Given the description of an element on the screen output the (x, y) to click on. 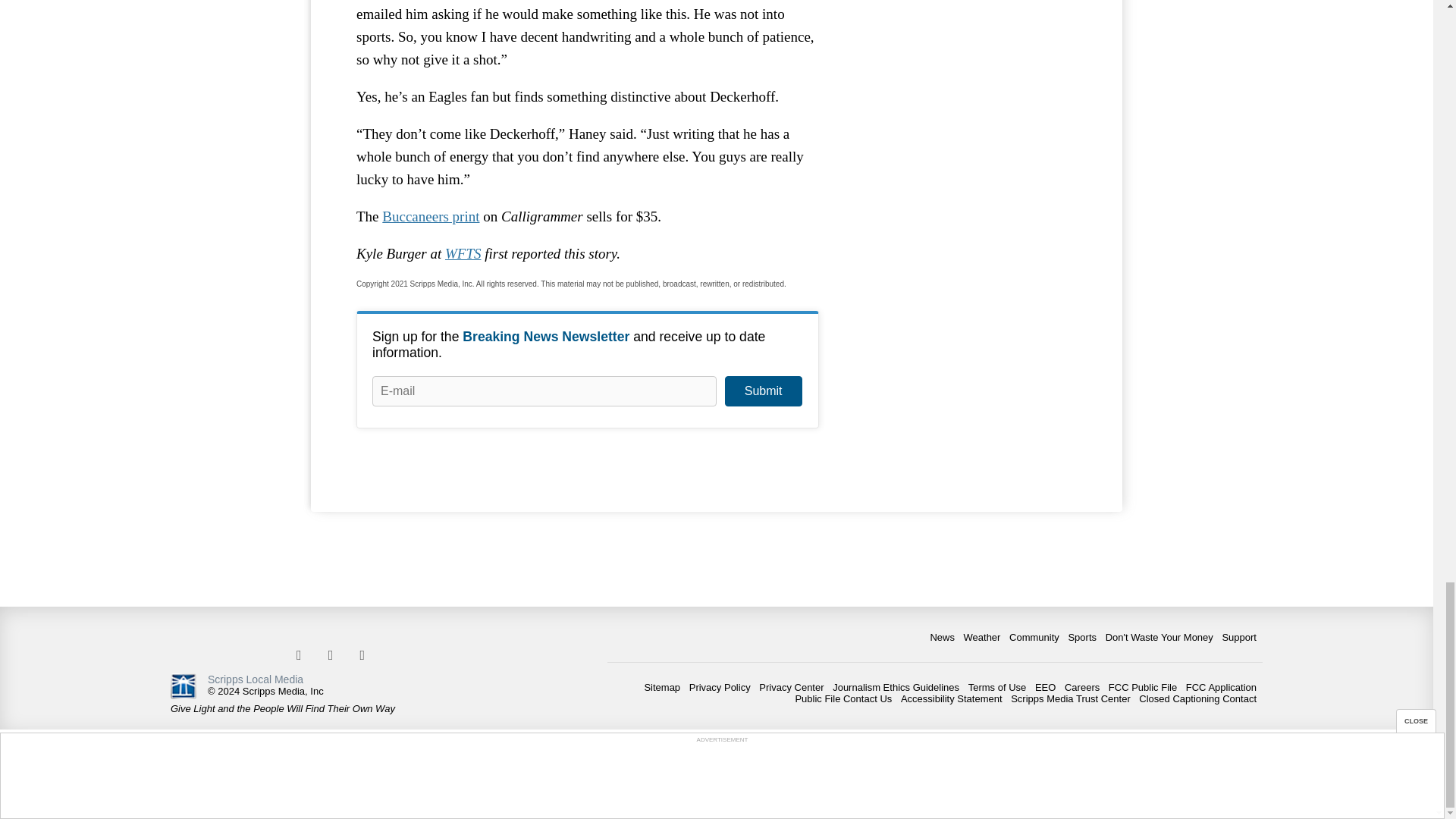
Submit (763, 390)
